Given the description of an element on the screen output the (x, y) to click on. 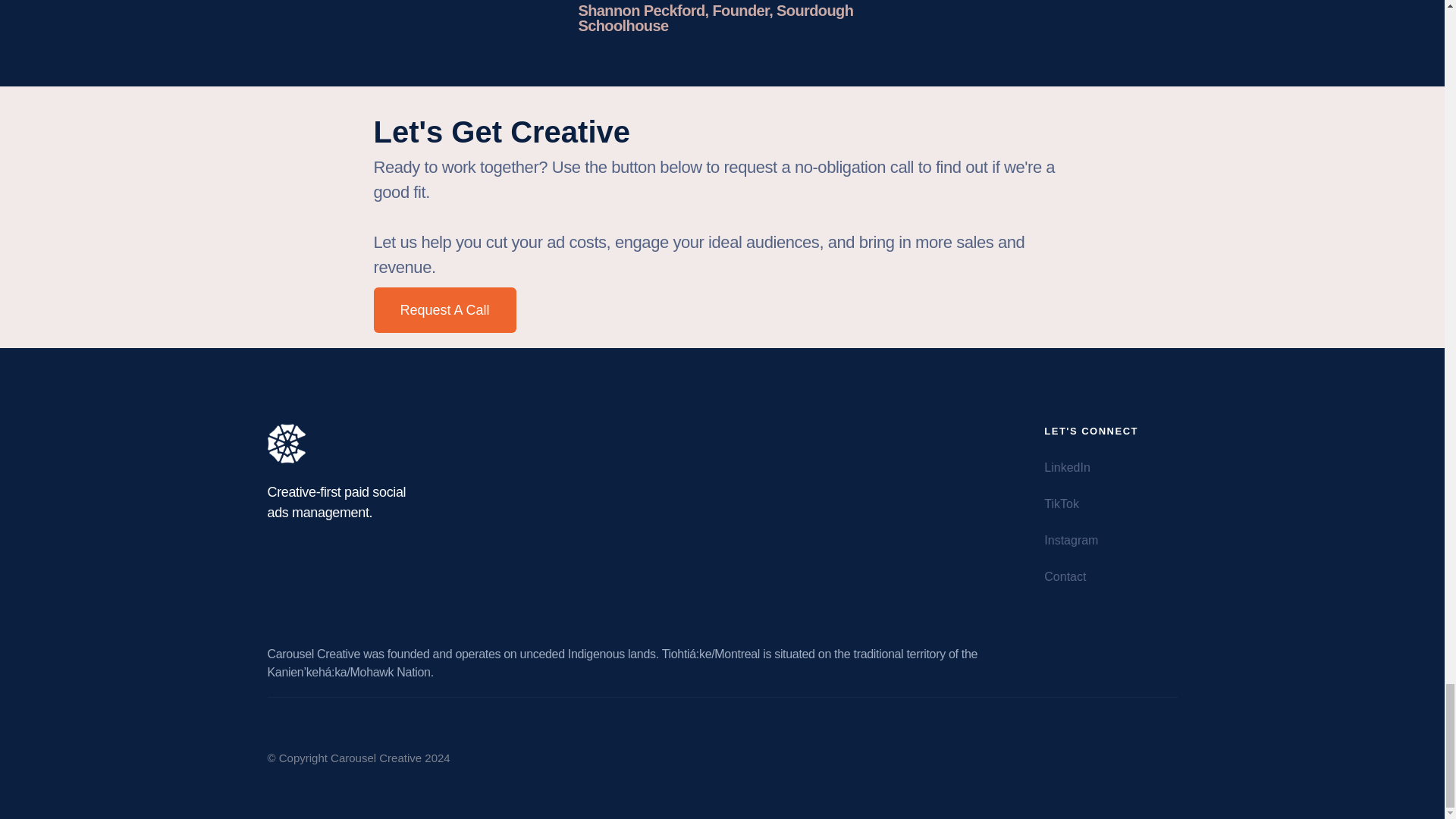
Instagram (1072, 540)
Request A Call (443, 309)
Contact (1066, 576)
TikTok (1063, 503)
LinkedIn (1068, 467)
